Given the description of an element on the screen output the (x, y) to click on. 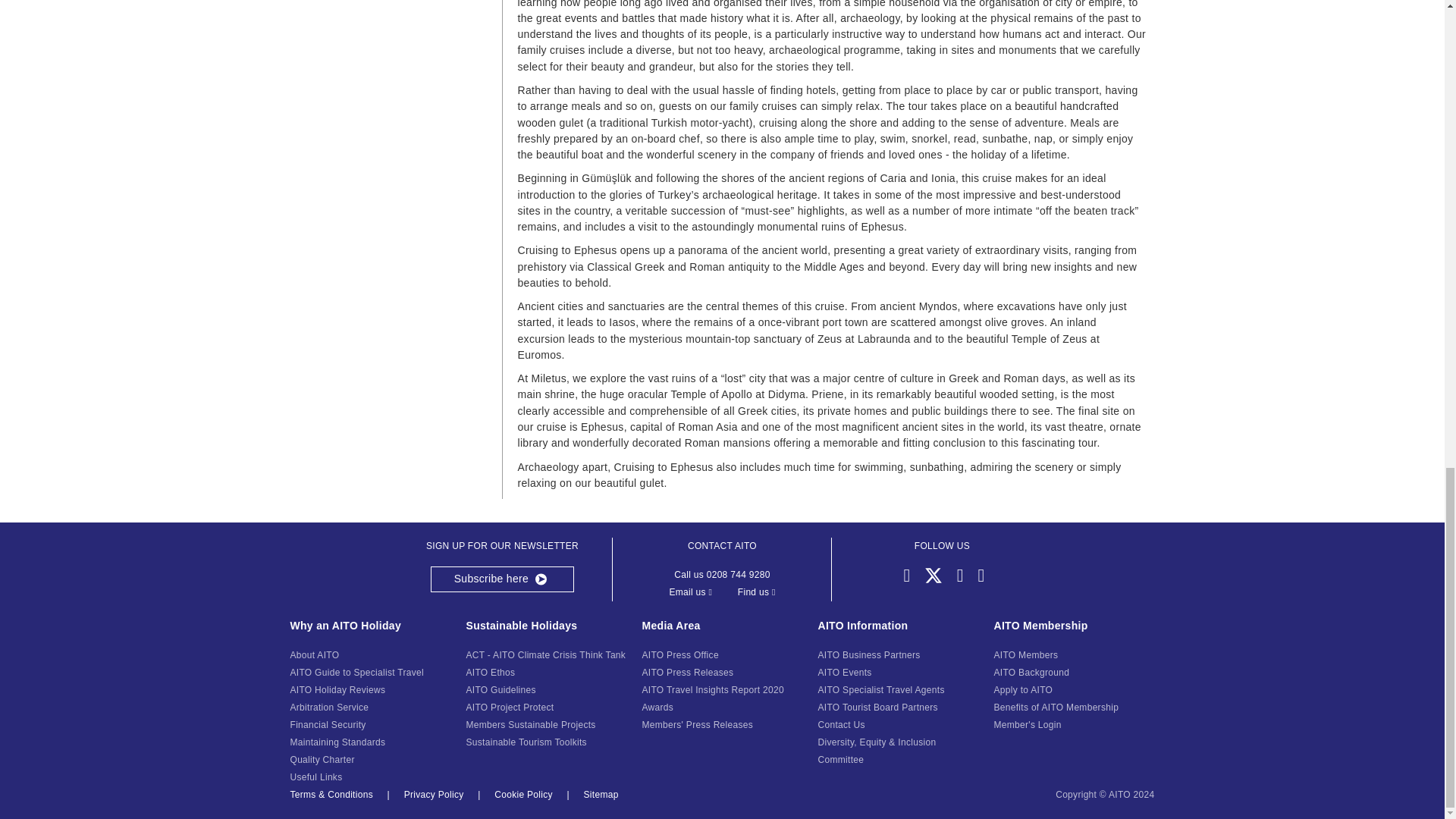
AITO Guide to Specialist Travel (356, 672)
Subscribe here (502, 579)
Email us (689, 592)
AITO Holiday Reviews (337, 689)
AITO Guidelines (500, 689)
0208 744 9280 (738, 574)
Arbitration Service (328, 706)
Find us (757, 592)
Useful Links (315, 777)
Quality Charter (321, 759)
